Given the description of an element on the screen output the (x, y) to click on. 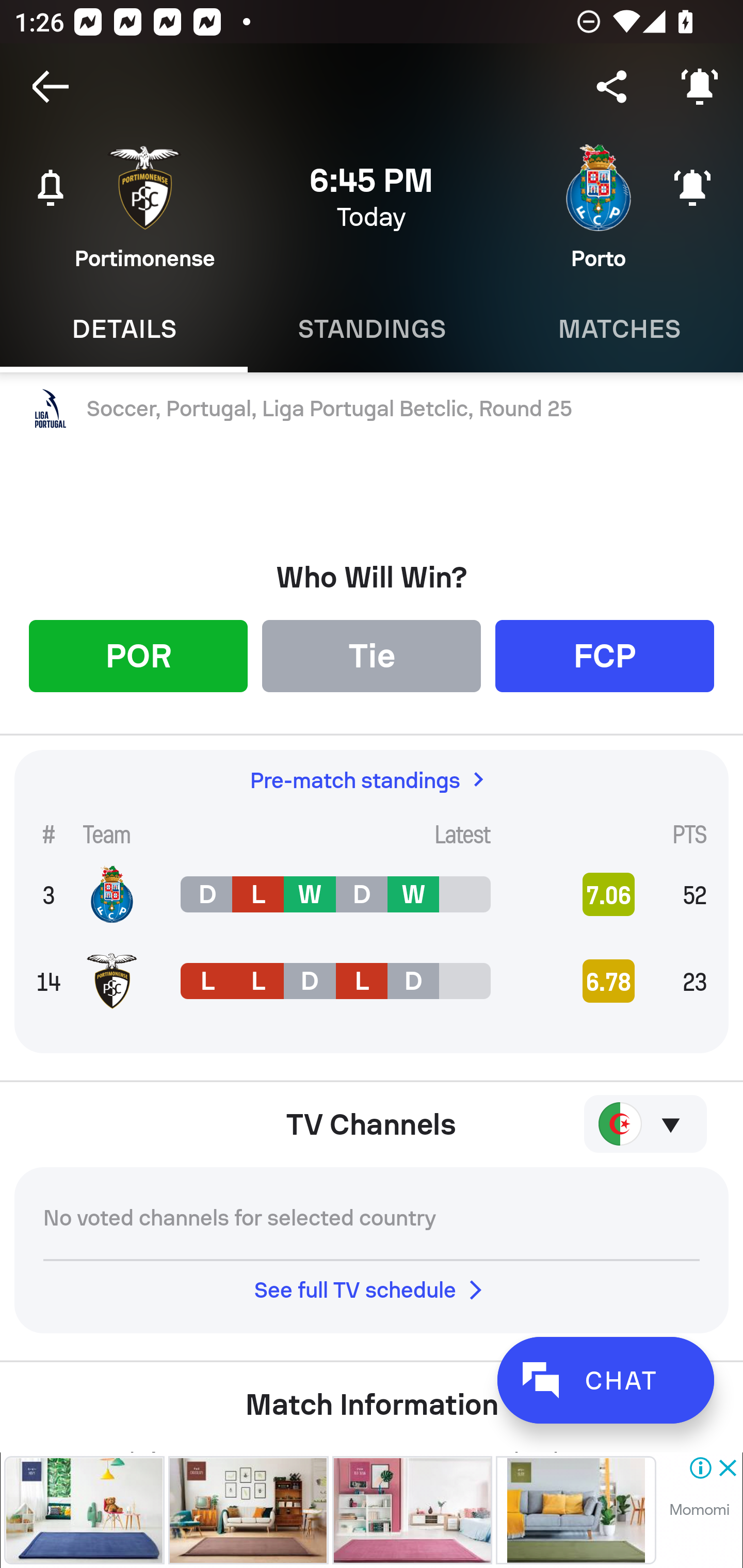
Navigate up (50, 86)
Standings STANDINGS (371, 329)
Matches MATCHES (619, 329)
Soccer, Portugal, Liga Portugal Betclic, Round 25 (371, 409)
POR (137, 655)
Tie (371, 655)
FCP (604, 655)
See full TV schedule (371, 1289)
CHAT (605, 1380)
Momomi (699, 1509)
